Given the description of an element on the screen output the (x, y) to click on. 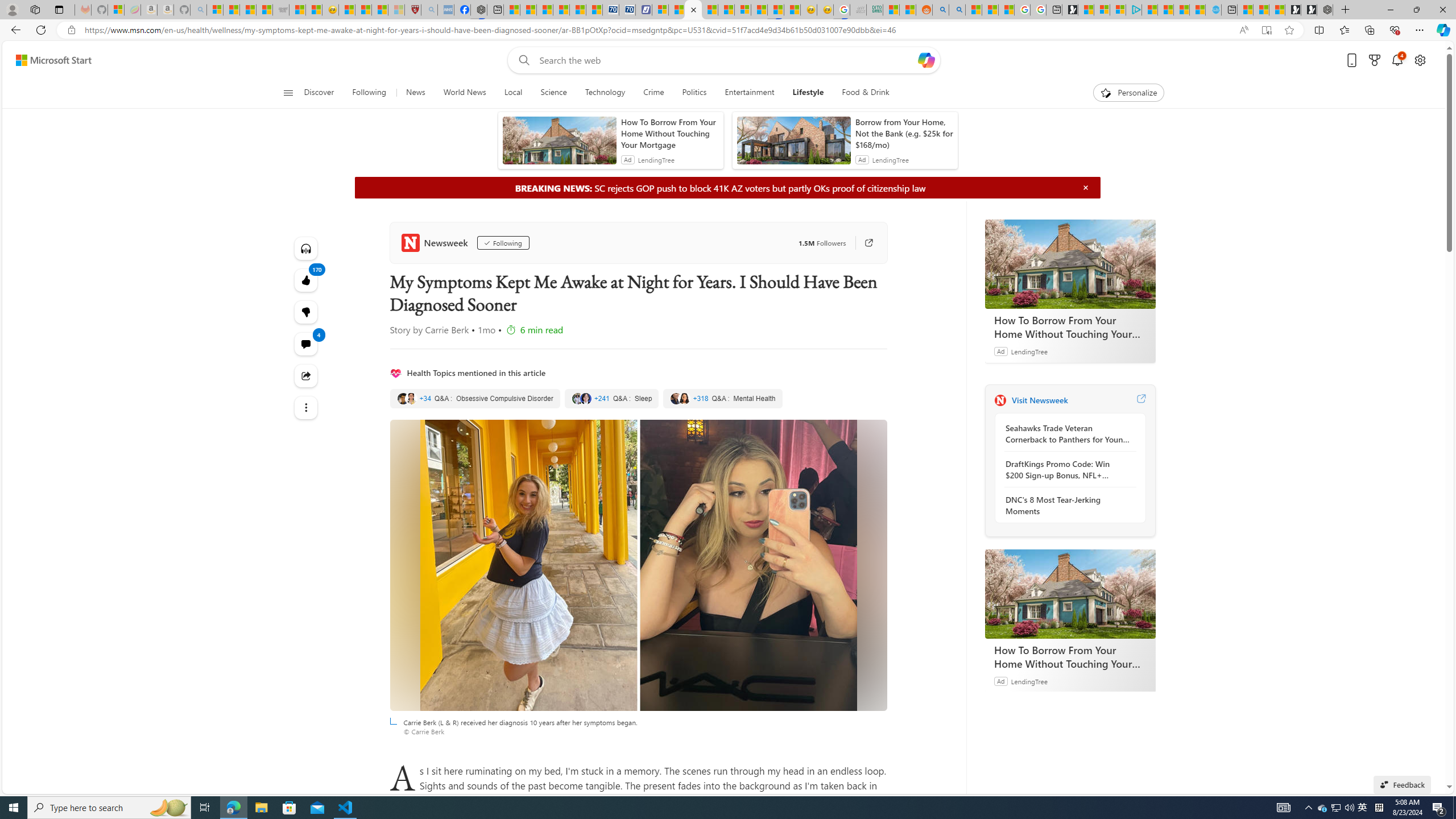
Politics (694, 92)
News (415, 92)
Technology (605, 92)
Lifestyle (807, 92)
Politics (694, 92)
Borrow from Your Home, Not the Bank (e.g. $25k for $168/mo) (903, 133)
